Given the description of an element on the screen output the (x, y) to click on. 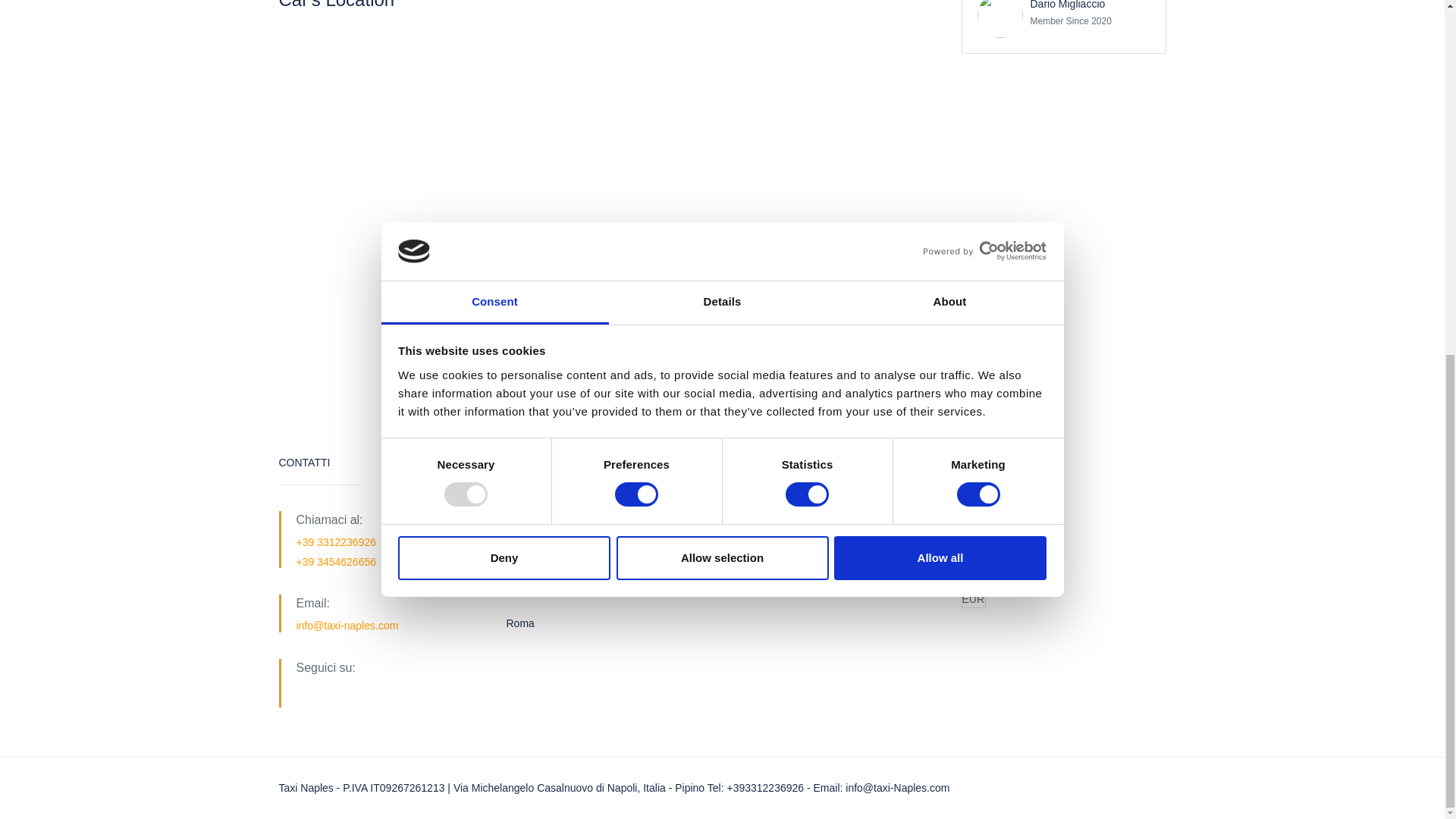
Privacy Policy  (771, 519)
